Given the description of an element on the screen output the (x, y) to click on. 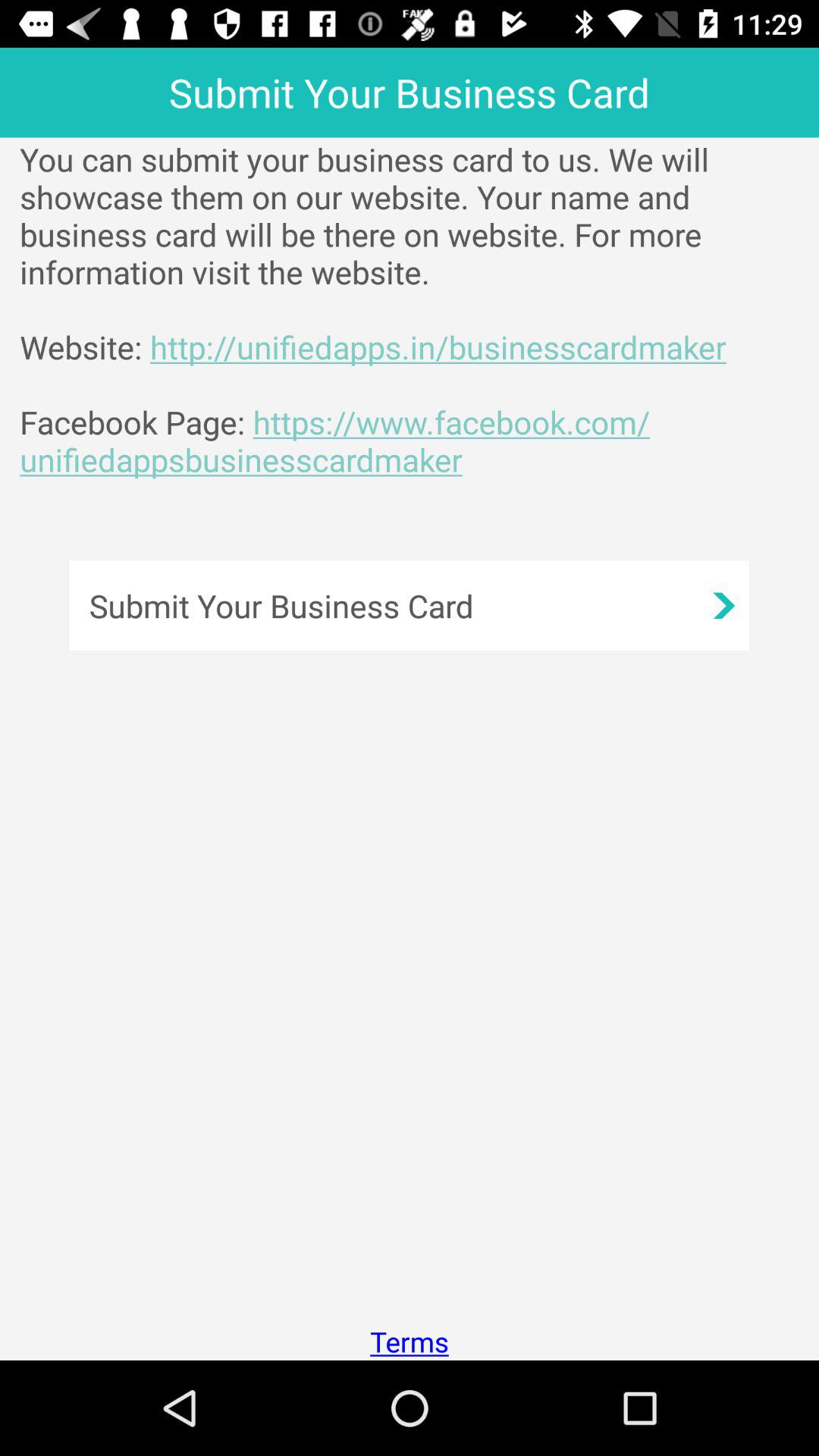
jump to the you can submit (419, 309)
